Given the description of an element on the screen output the (x, y) to click on. 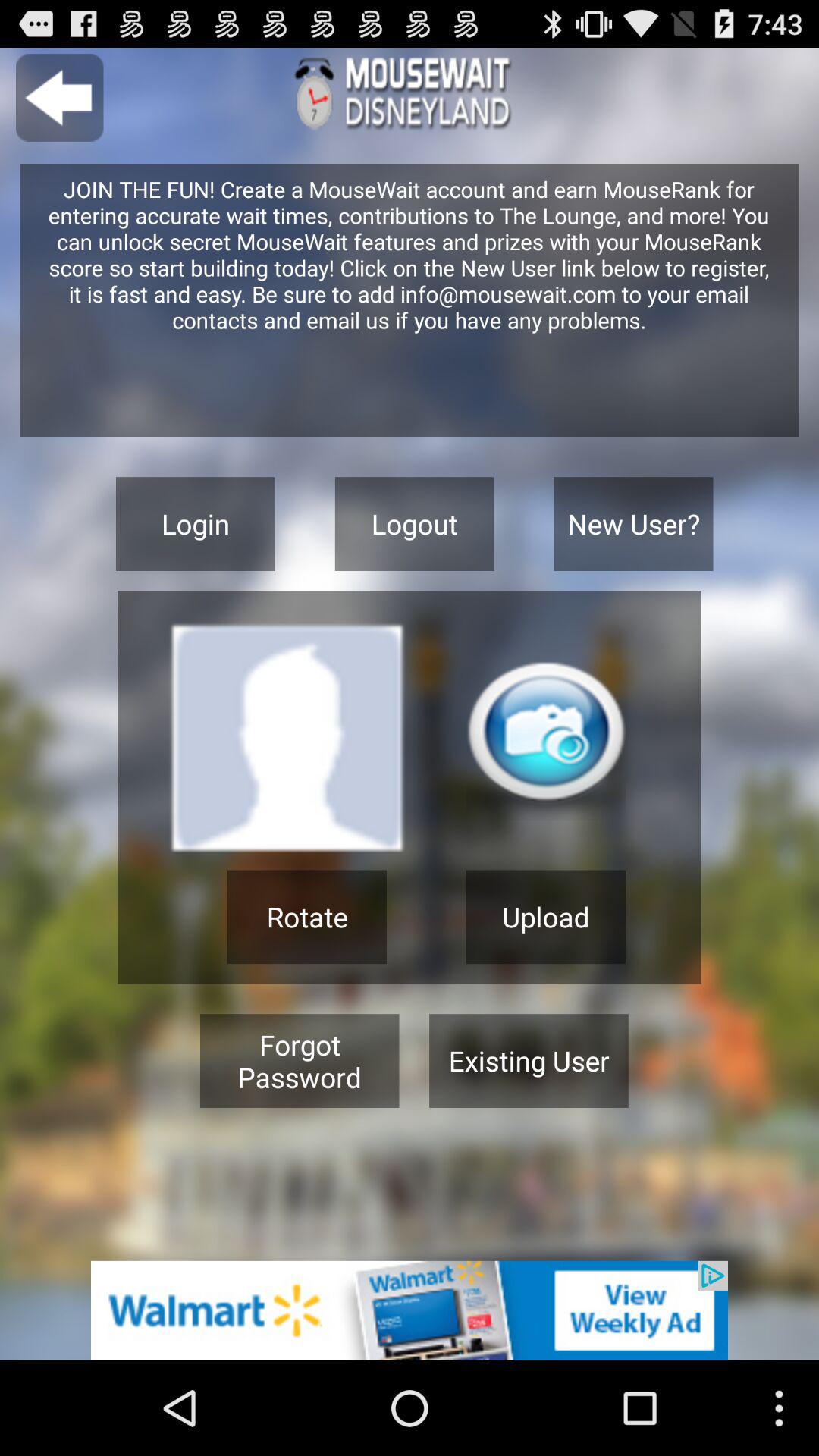
see offers (409, 1310)
